Given the description of an element on the screen output the (x, y) to click on. 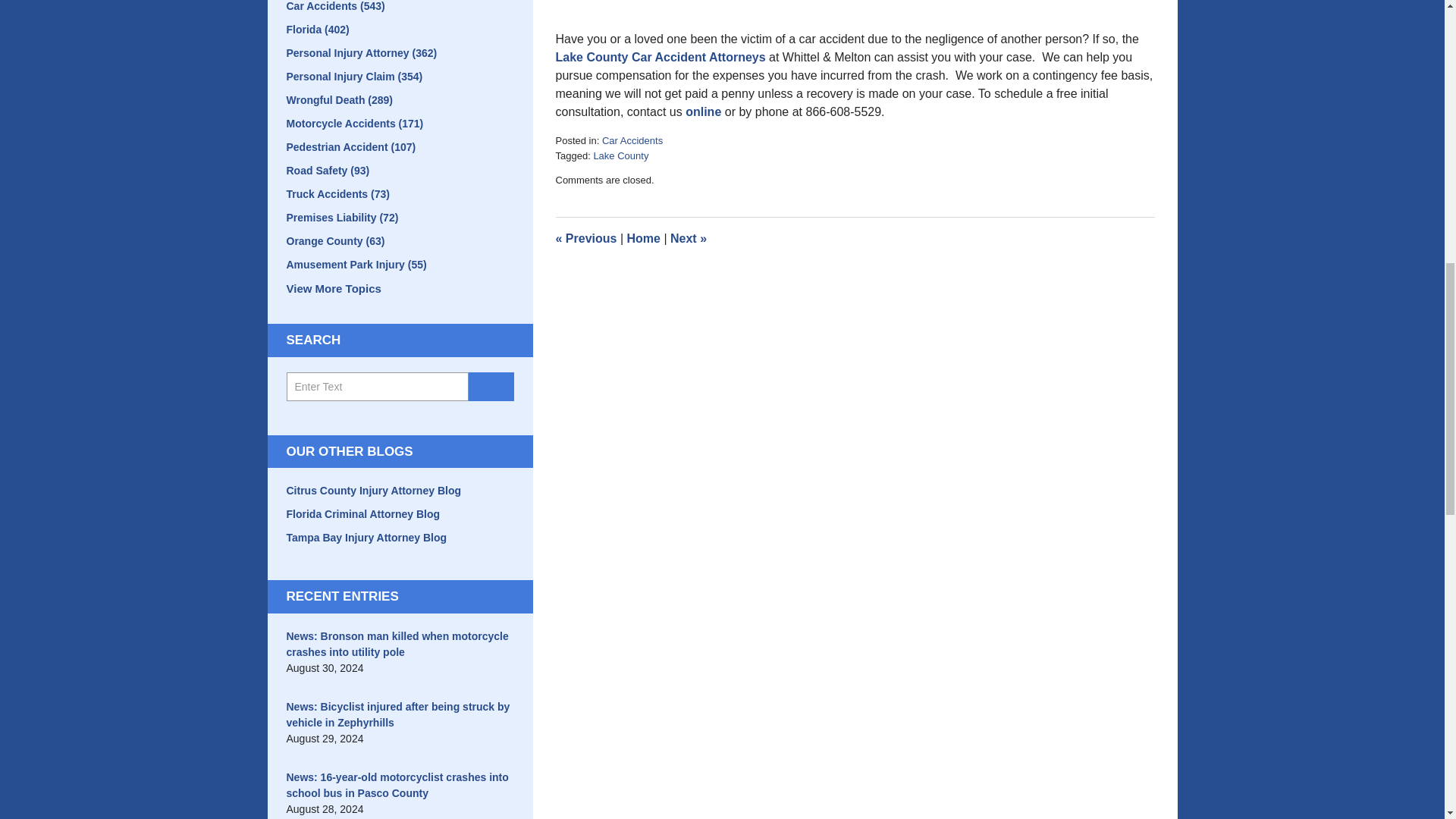
Home (642, 237)
View all posts in Car Accidents (632, 140)
Lake County Car Accident Attorneys (659, 56)
online (702, 111)
Car Accidents (632, 140)
View all posts tagged with Lake County (619, 155)
Lake County (619, 155)
View More Topics (399, 289)
News: Dunnellon man killed in Marion County ATV accident (687, 237)
